Given the description of an element on the screen output the (x, y) to click on. 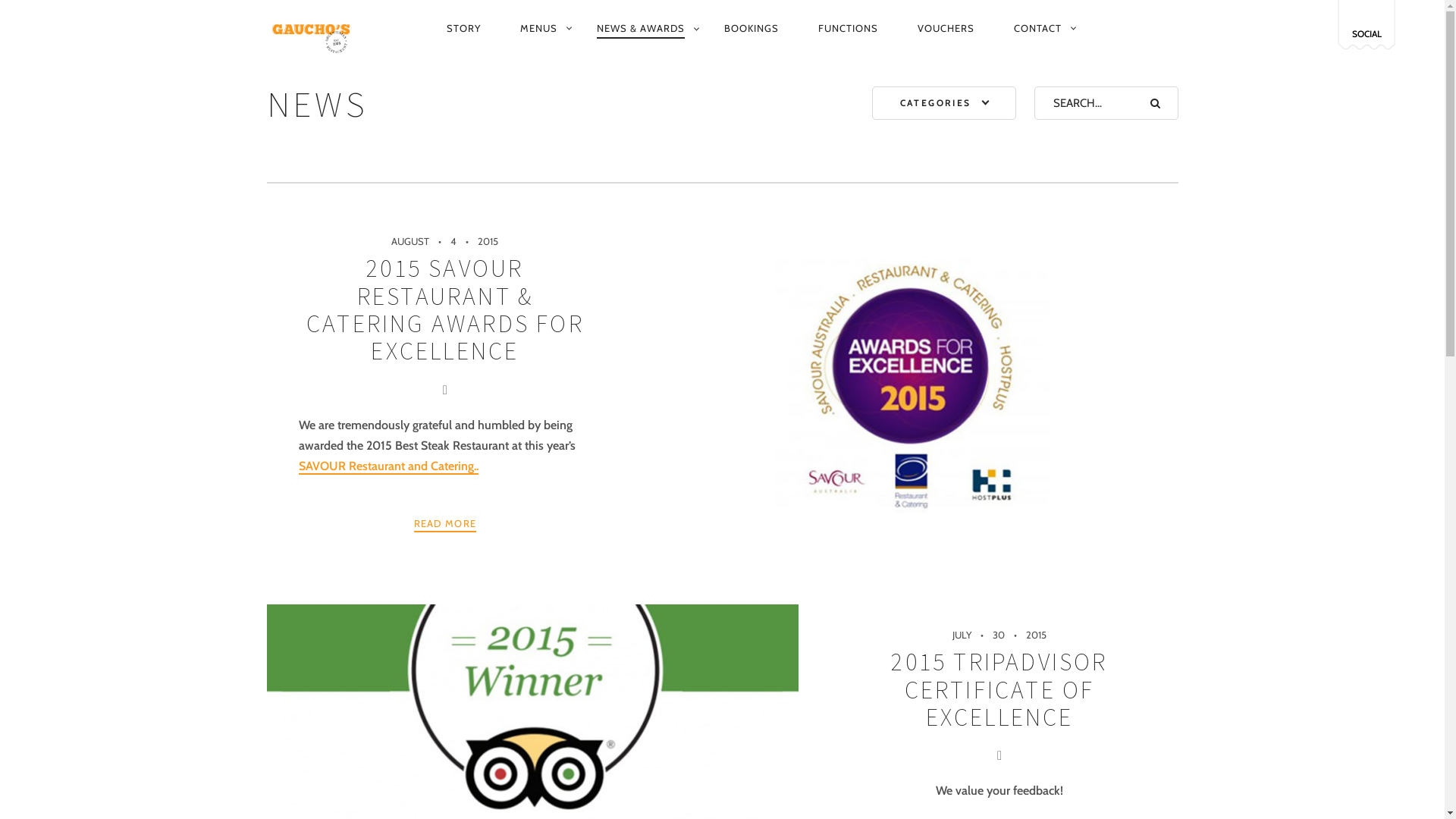
READ MORE Element type: text (445, 524)
CONTACT Element type: text (1036, 27)
MENUS Element type: text (538, 27)
NEWS & AWARDS Element type: text (639, 28)
SAVOUR Restaurant and Catering.. Element type: text (388, 466)
BOOKINGS Element type: text (750, 27)
STORY Element type: text (462, 27)
2015 TRIPADVISOR CERTIFICATE OF EXCELLENCE Element type: text (999, 689)
Gaucho's Argentinian Restaurant Element type: hover (314, 29)
2015 SAVOUR RESTAURANT & CATERING AWARDS FOR EXCELLENCE Element type: text (444, 309)
FUNCTIONS Element type: text (847, 27)
CATEGORIES Element type: text (944, 102)
VOUCHERS Element type: text (945, 27)
